Given the description of an element on the screen output the (x, y) to click on. 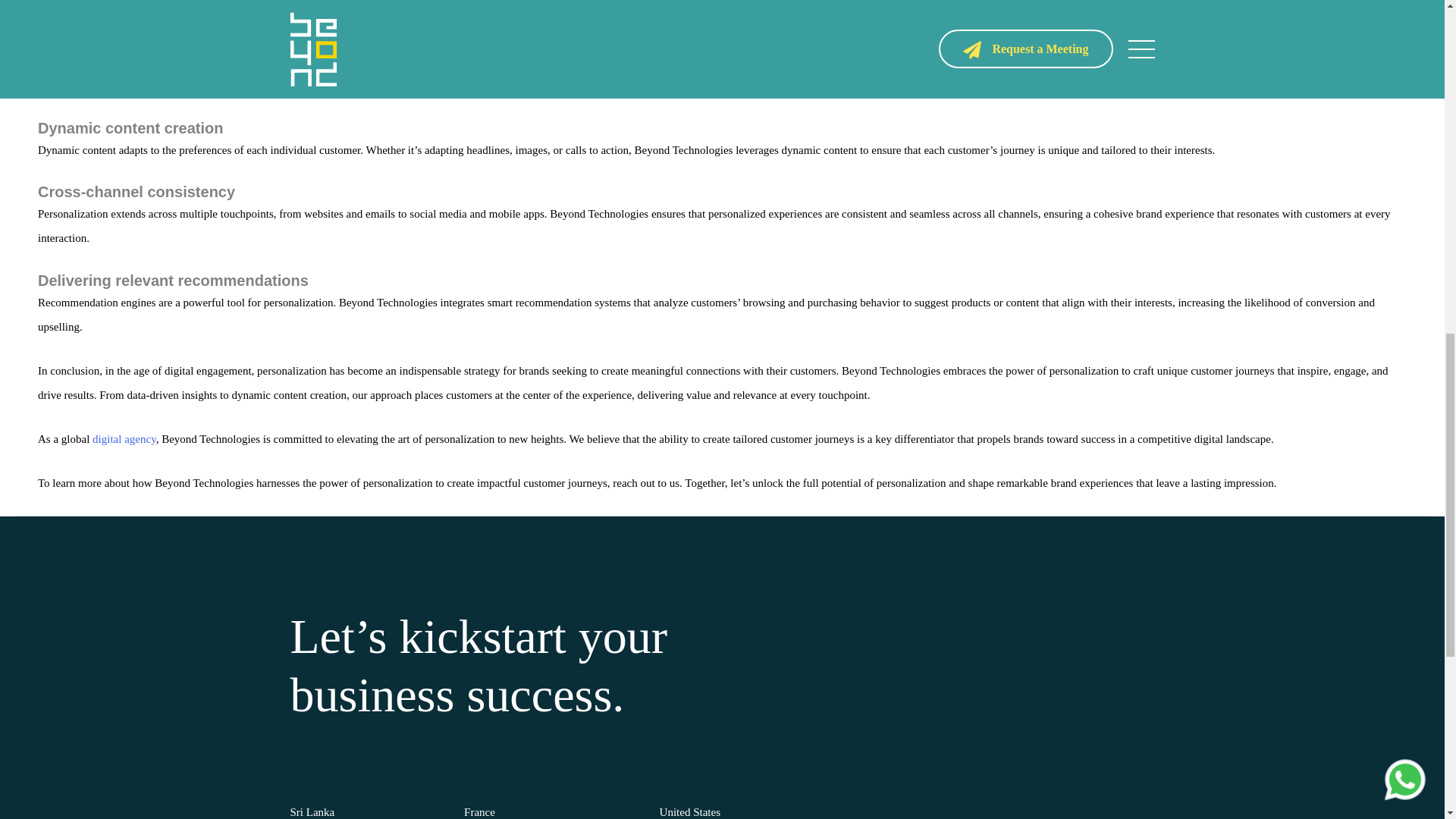
digital agency (124, 439)
